Given the description of an element on the screen output the (x, y) to click on. 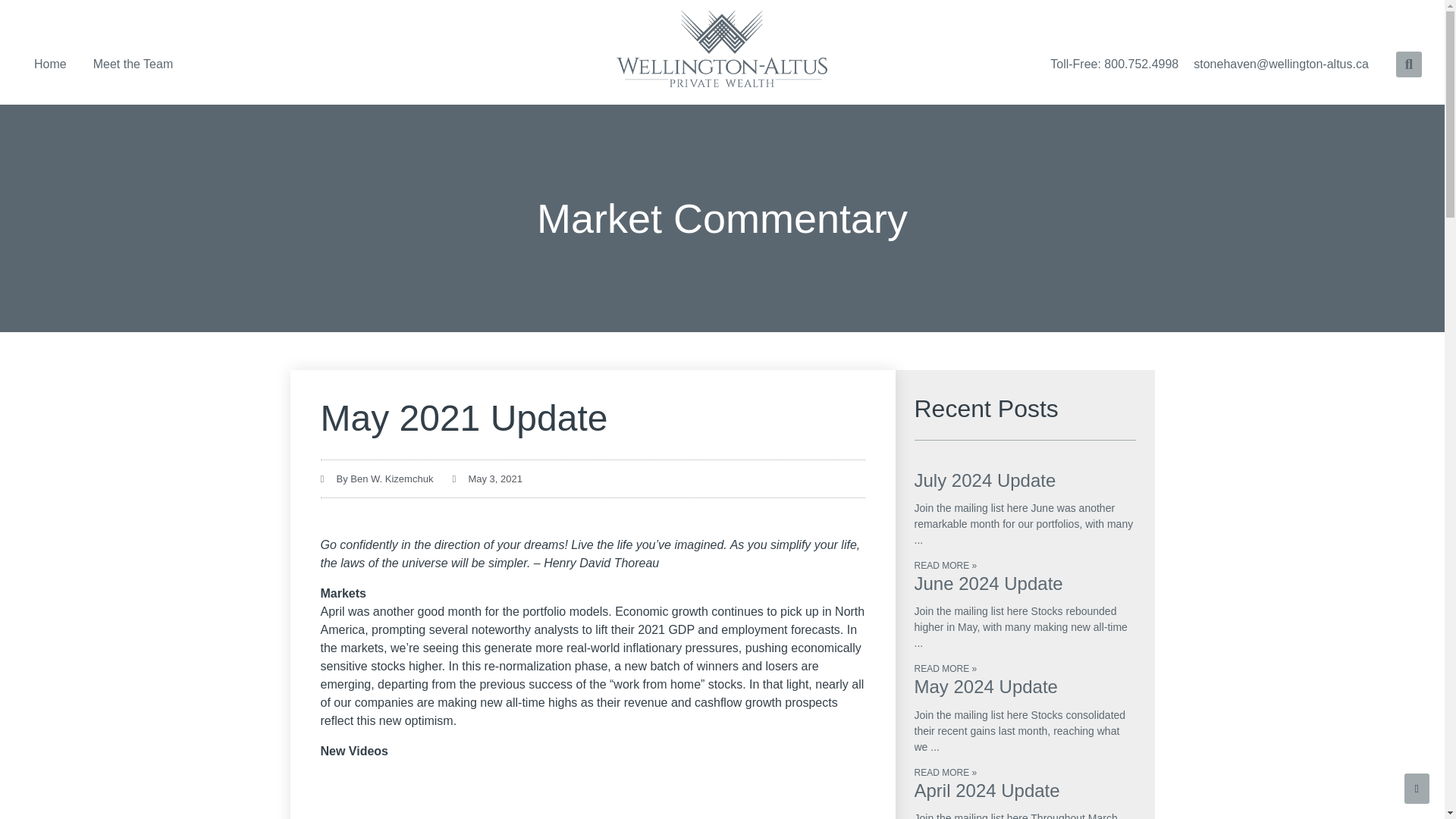
May 2024 Update (986, 686)
Toll-Free: 800.752.4998 (1114, 63)
Home (50, 62)
June 2024 Update (988, 583)
July 2024 Update (985, 480)
April 2024 Update (986, 790)
Meet the Team (132, 62)
